Given the description of an element on the screen output the (x, y) to click on. 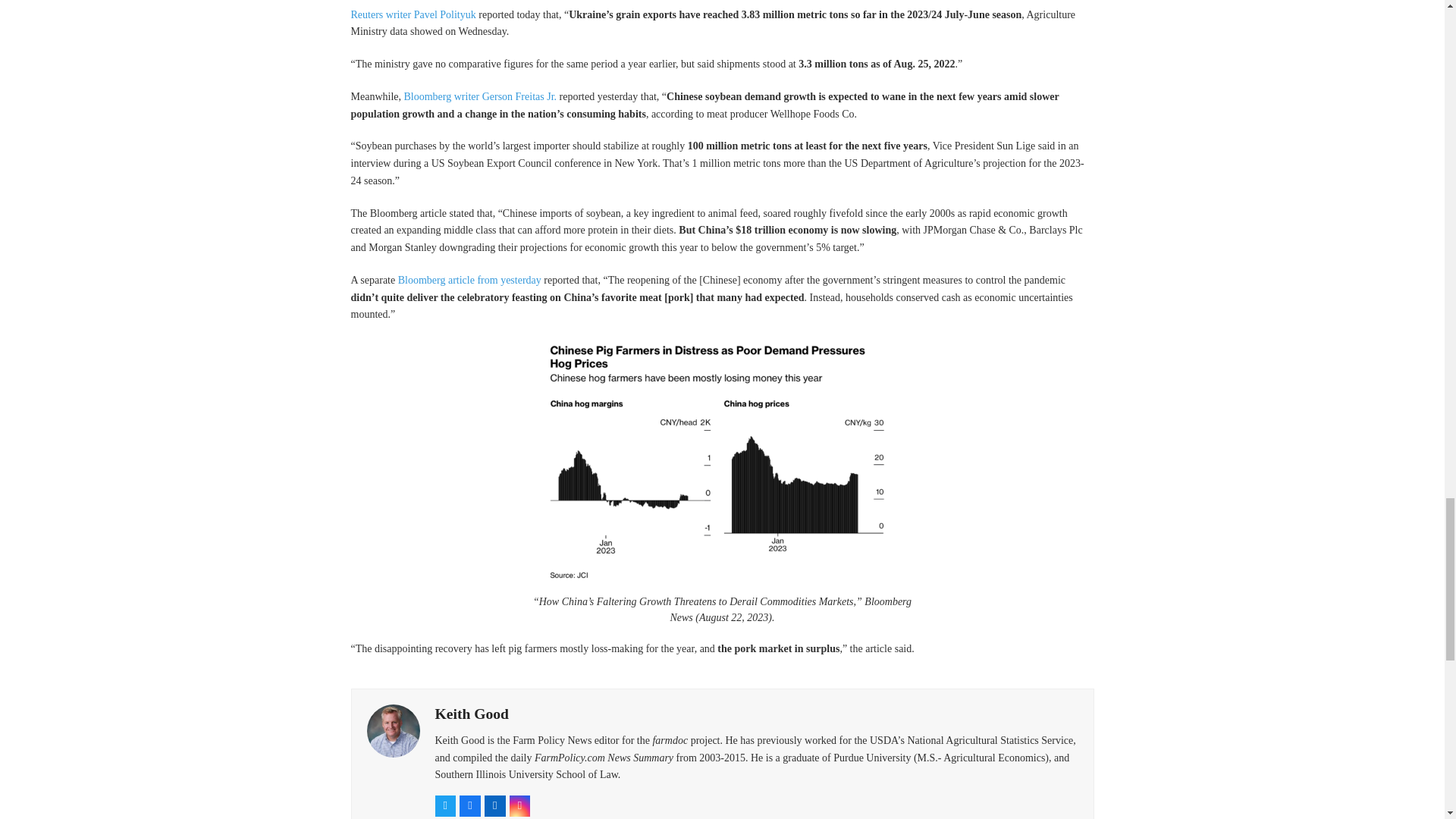
Visit Author Page (393, 729)
Visit Author Page (471, 713)
